Given the description of an element on the screen output the (x, y) to click on. 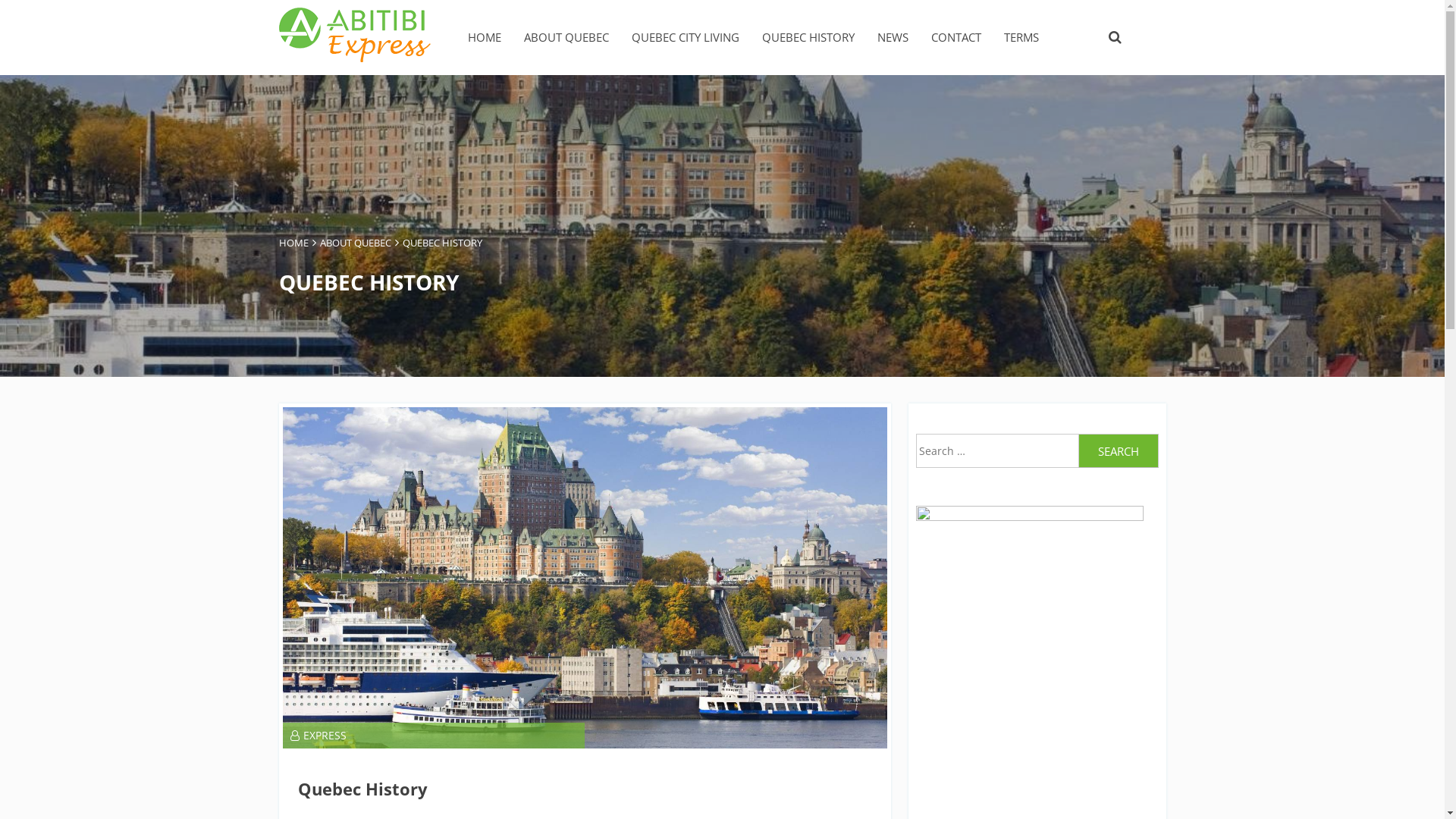
CONTACT Element type: text (956, 37)
QUEBEC HISTORY Element type: text (807, 37)
HOME Element type: text (293, 242)
HOME Element type: text (483, 37)
QUEBEC CITY LIVING Element type: text (684, 37)
EXPRESS Element type: text (317, 735)
ABOUT QUEBEC Element type: text (565, 37)
Search Element type: text (1118, 450)
NEWS Element type: text (891, 37)
ABOUT QUEBEC Element type: text (355, 242)
TERMS Element type: text (1021, 37)
